Given the description of an element on the screen output the (x, y) to click on. 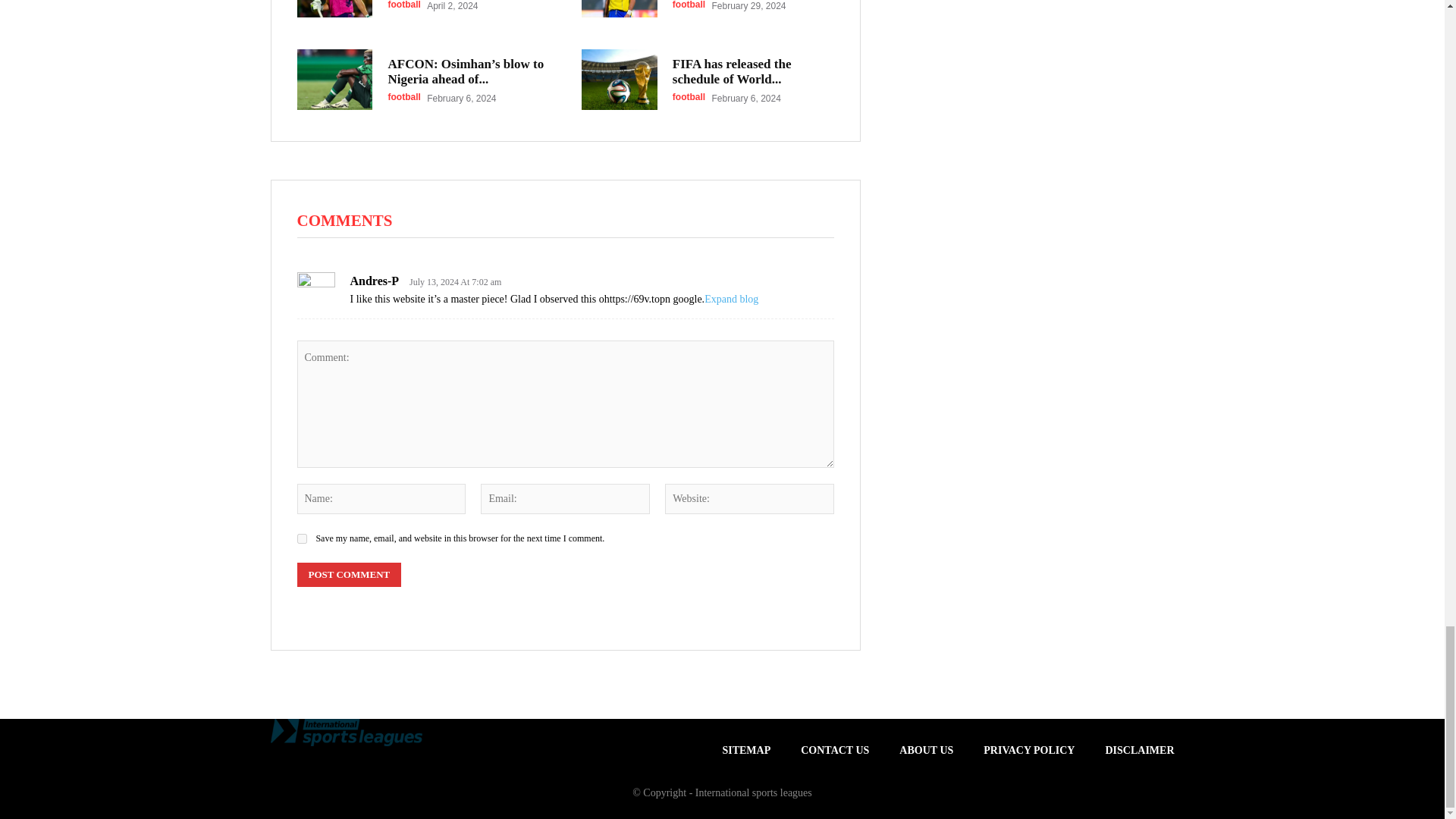
Post Comment (349, 574)
yes (302, 538)
